Given the description of an element on the screen output the (x, y) to click on. 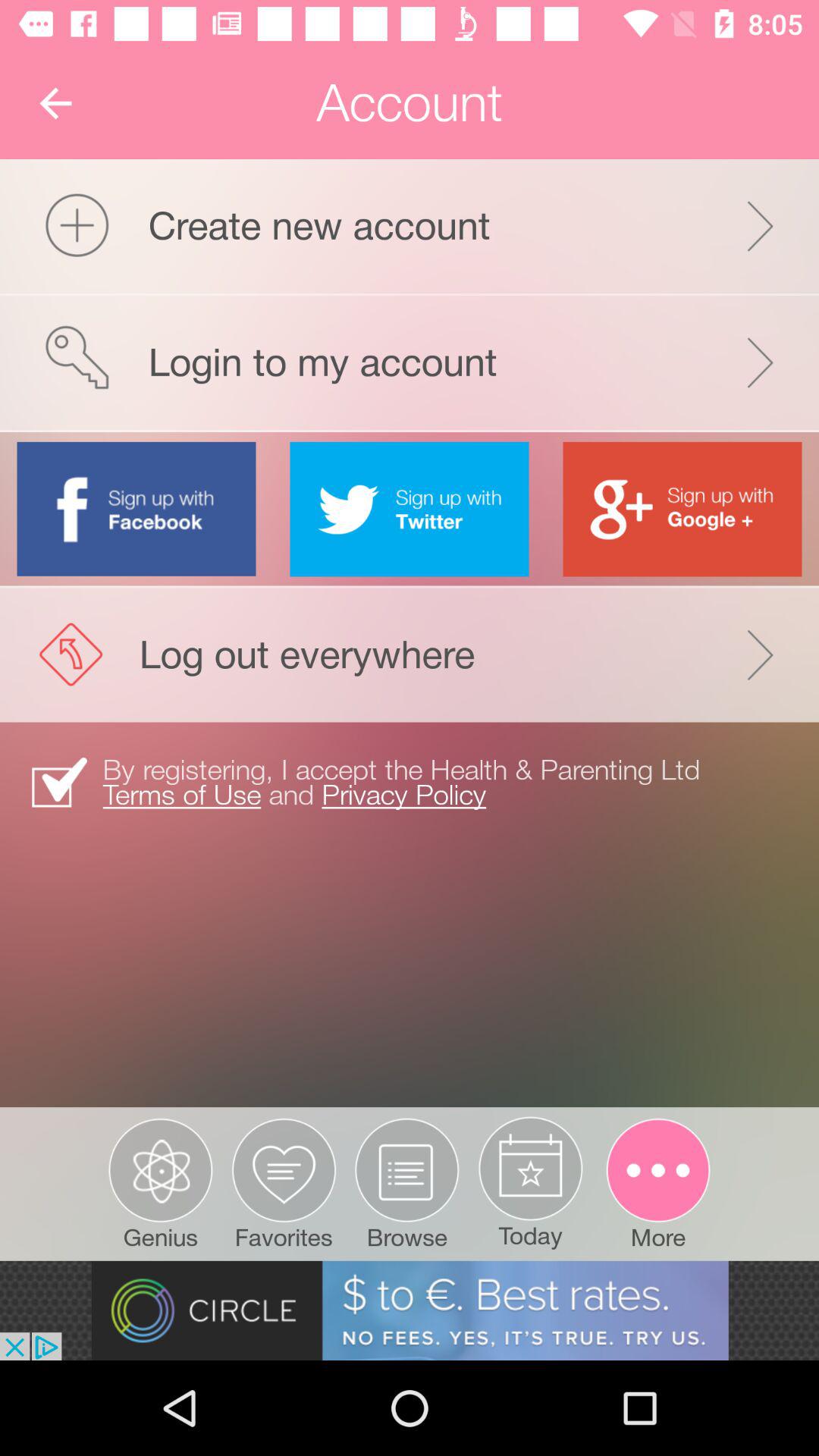
sign up with fb (136, 508)
